Given the description of an element on the screen output the (x, y) to click on. 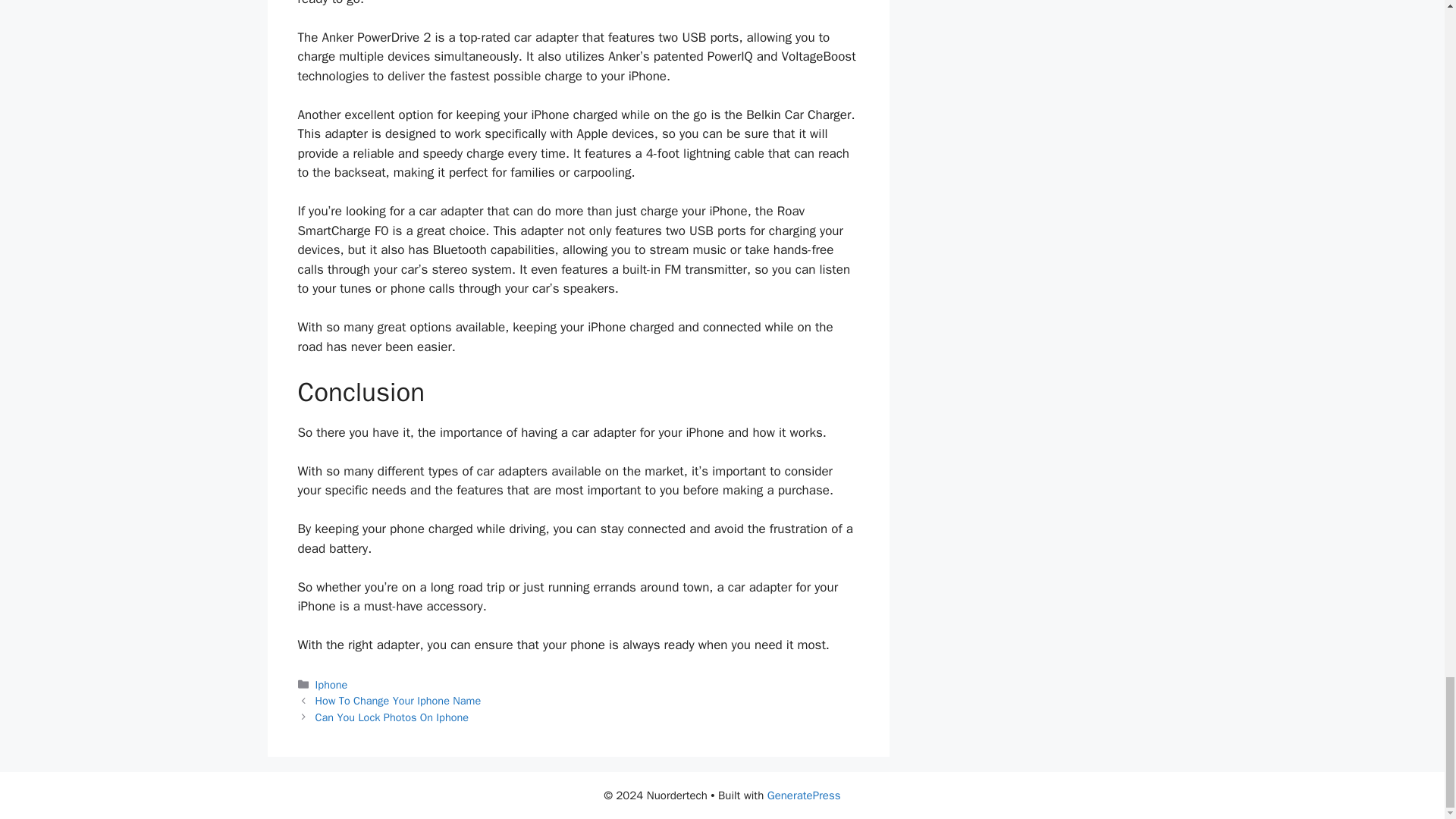
How To Change Your Iphone Name (398, 700)
Iphone (331, 684)
Can You Lock Photos On Iphone (391, 716)
GeneratePress (804, 795)
